Given the description of an element on the screen output the (x, y) to click on. 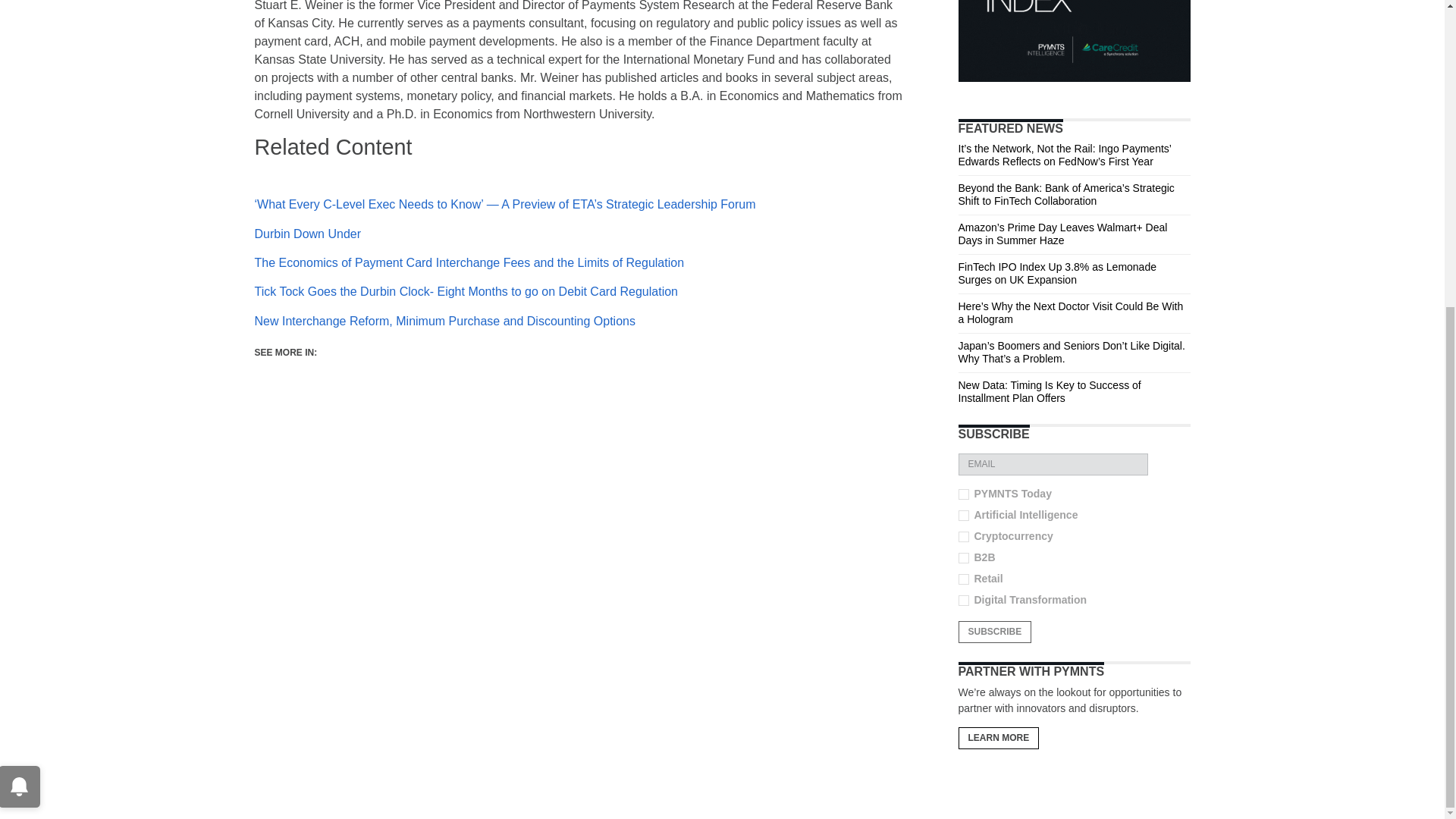
1 (963, 557)
1 (963, 599)
1 (963, 514)
1 (963, 493)
1 (963, 535)
1 (963, 578)
